Given the description of an element on the screen output the (x, y) to click on. 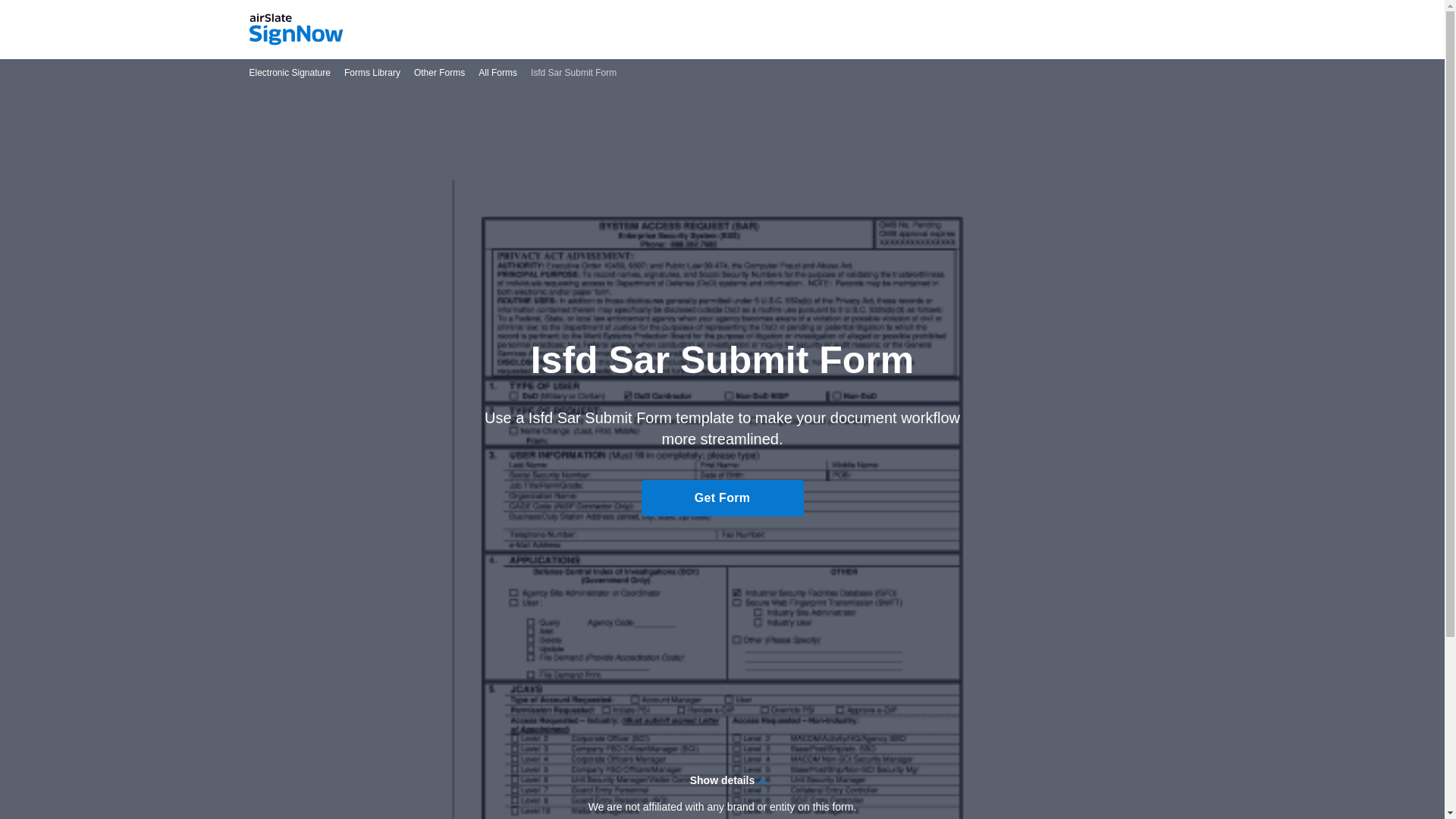
Get Form (722, 497)
All Forms (497, 73)
Other Forms (438, 73)
Forms Library (371, 73)
Show details (722, 780)
Electronic Signature (289, 73)
signNow (295, 29)
